Given the description of an element on the screen output the (x, y) to click on. 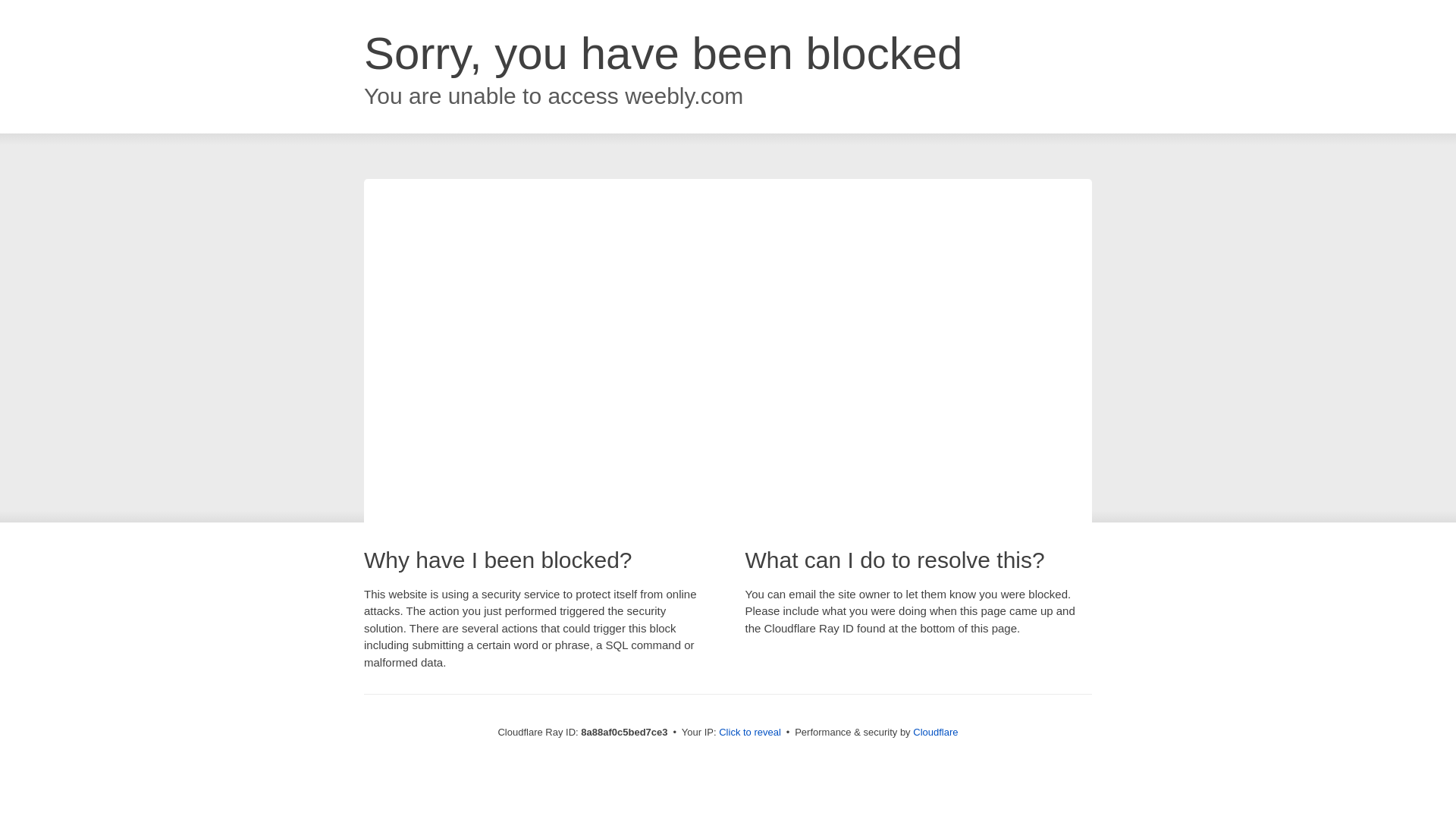
Click to reveal (749, 732)
Cloudflare (935, 731)
